Given the description of an element on the screen output the (x, y) to click on. 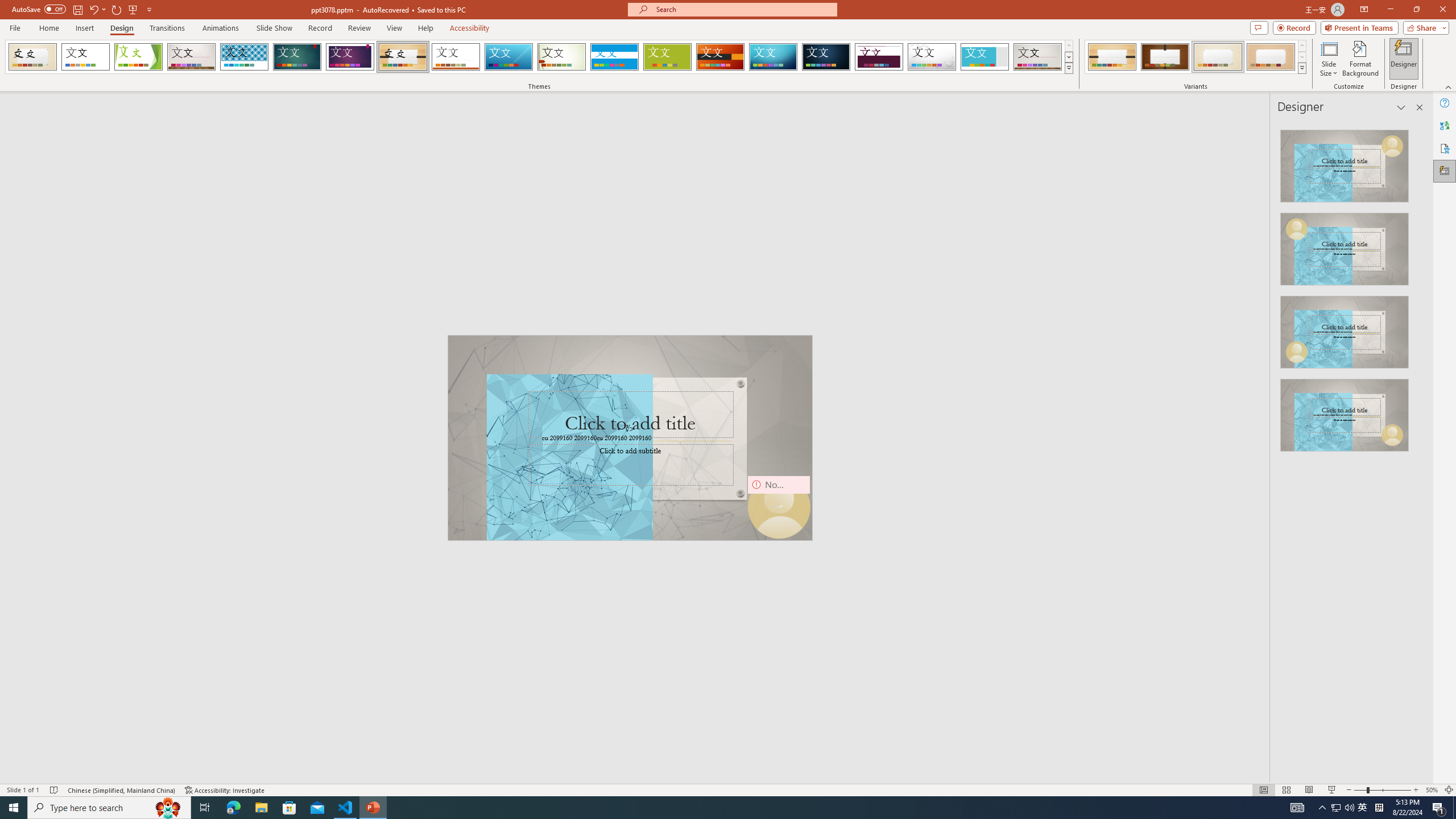
Themes (1068, 67)
Facet (138, 56)
